Given the description of an element on the screen output the (x, y) to click on. 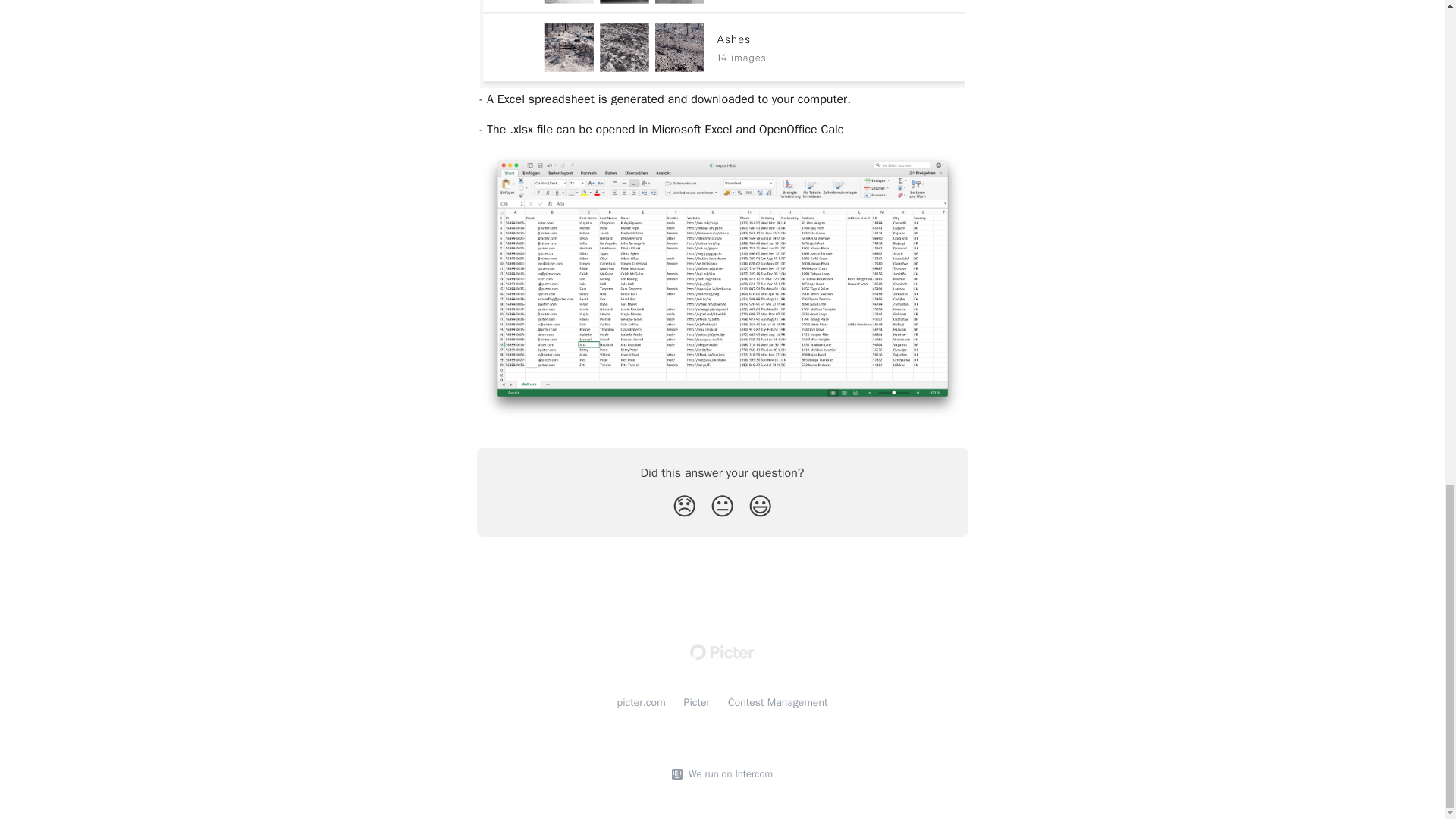
picter.com (641, 702)
Picter (697, 702)
We run on Intercom (727, 774)
Contest Management (777, 702)
